Given the description of an element on the screen output the (x, y) to click on. 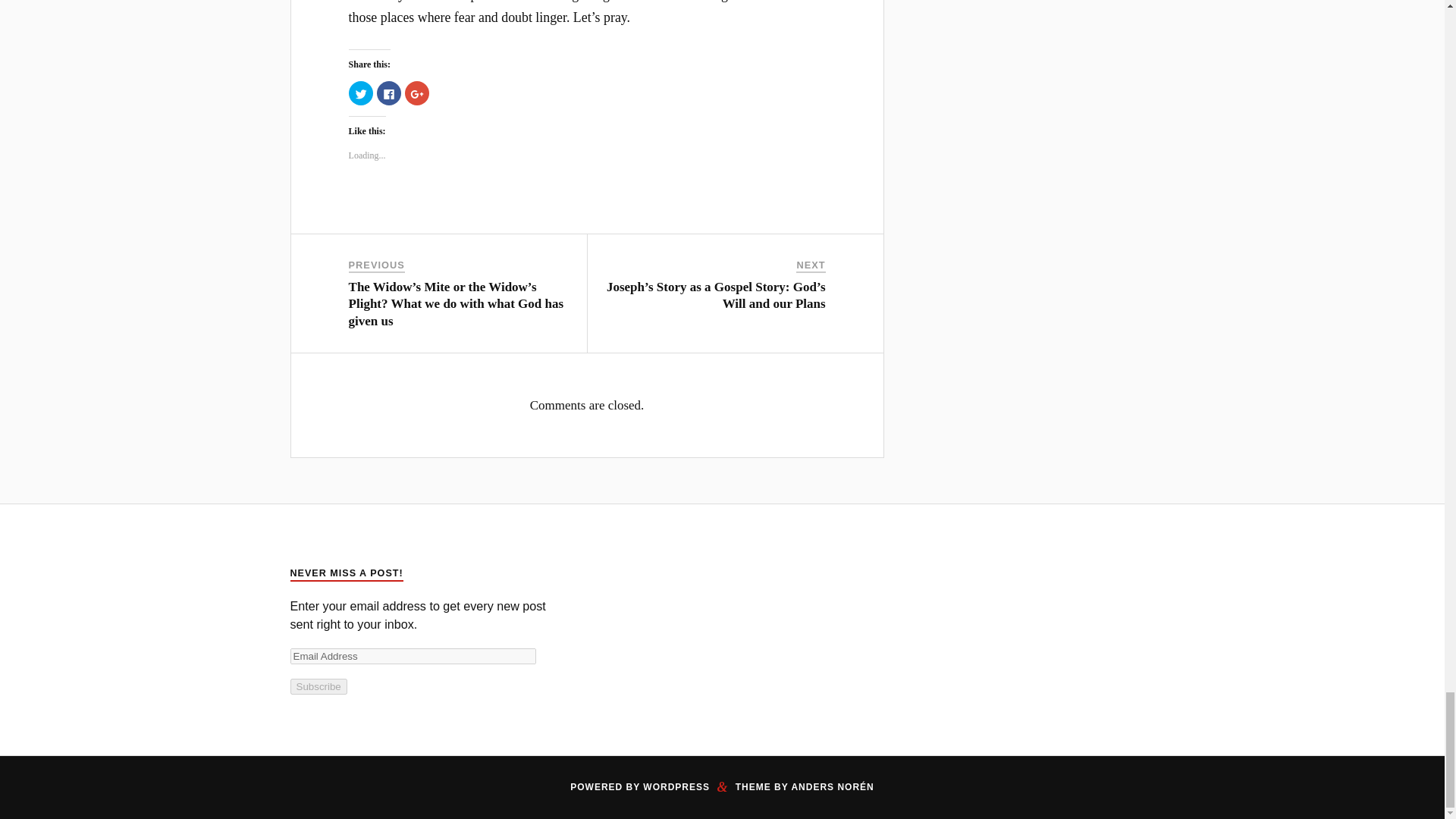
Click to share on Facebook (389, 93)
Subscribe (317, 686)
Click to share on Twitter (360, 93)
